Given the description of an element on the screen output the (x, y) to click on. 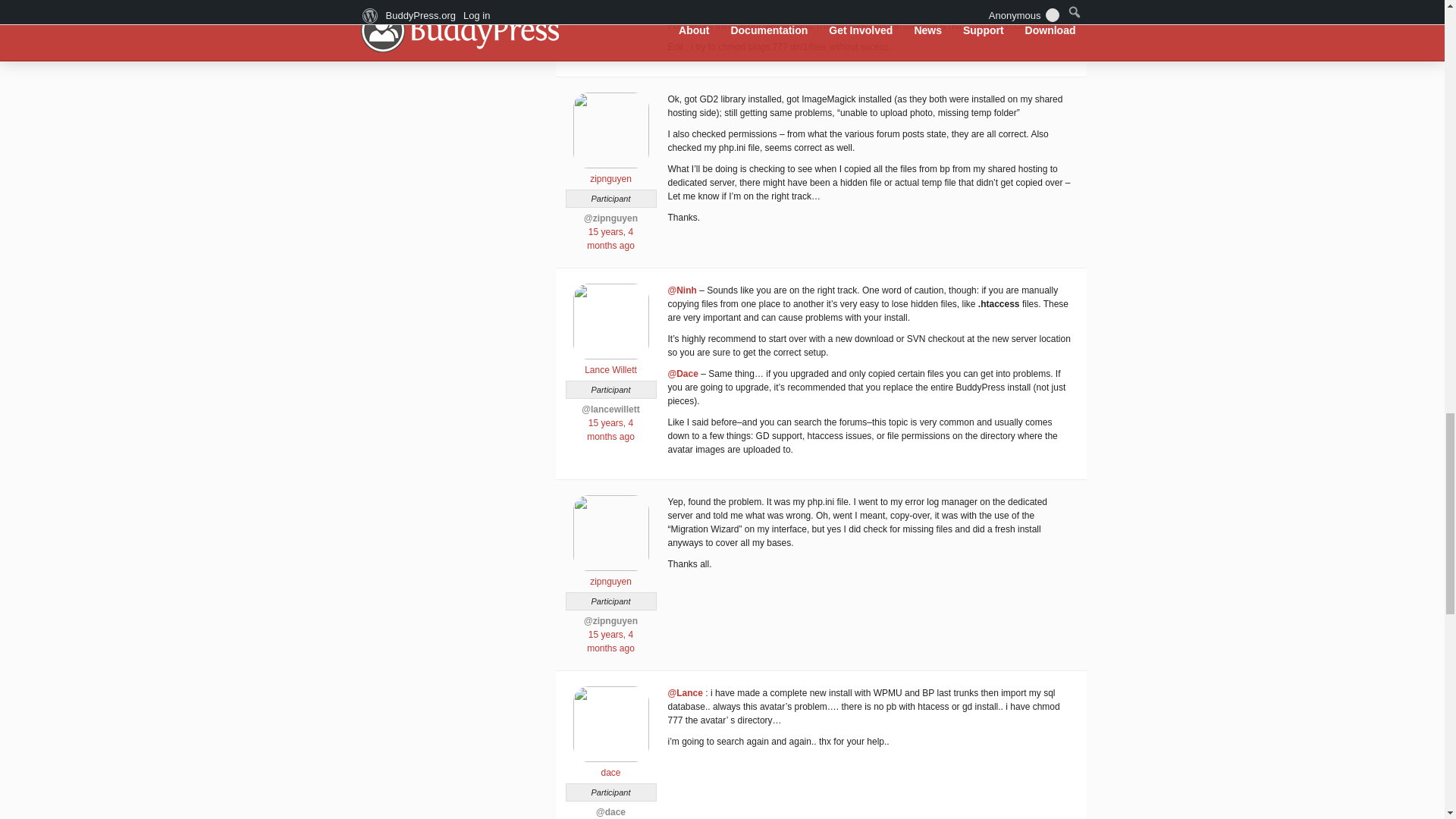
15 years, 4 months ago (610, 641)
15 years, 4 months ago (610, 429)
15 years, 4 months ago (610, 238)
zipnguyen (609, 172)
zipnguyen (609, 575)
dace (609, 766)
Lance Willett (609, 363)
